Given the description of an element on the screen output the (x, y) to click on. 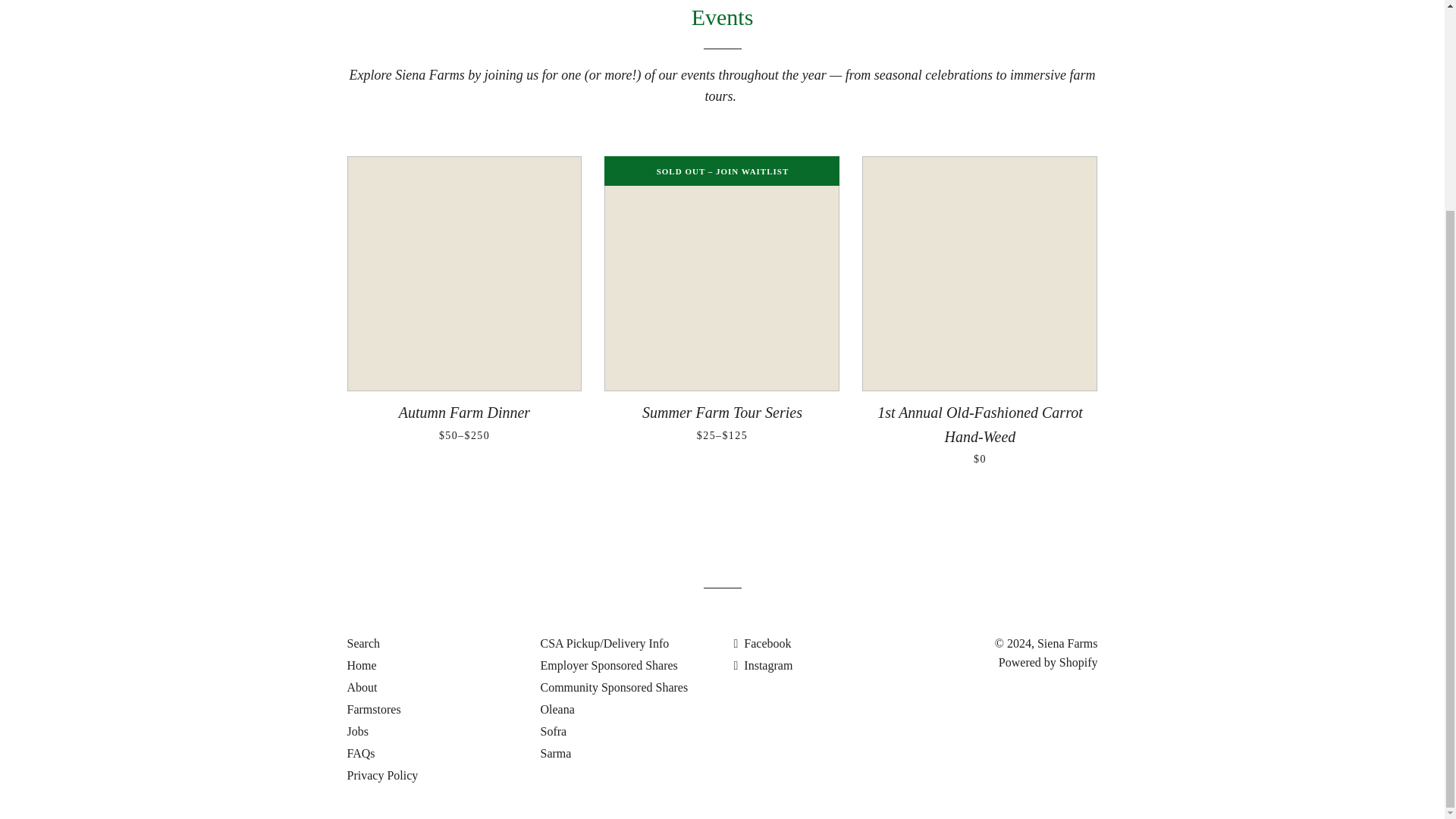
Siena Farms on Facebook (762, 643)
Home (362, 665)
Siena Farms on Instagram (763, 665)
Search (363, 643)
